Given the description of an element on the screen output the (x, y) to click on. 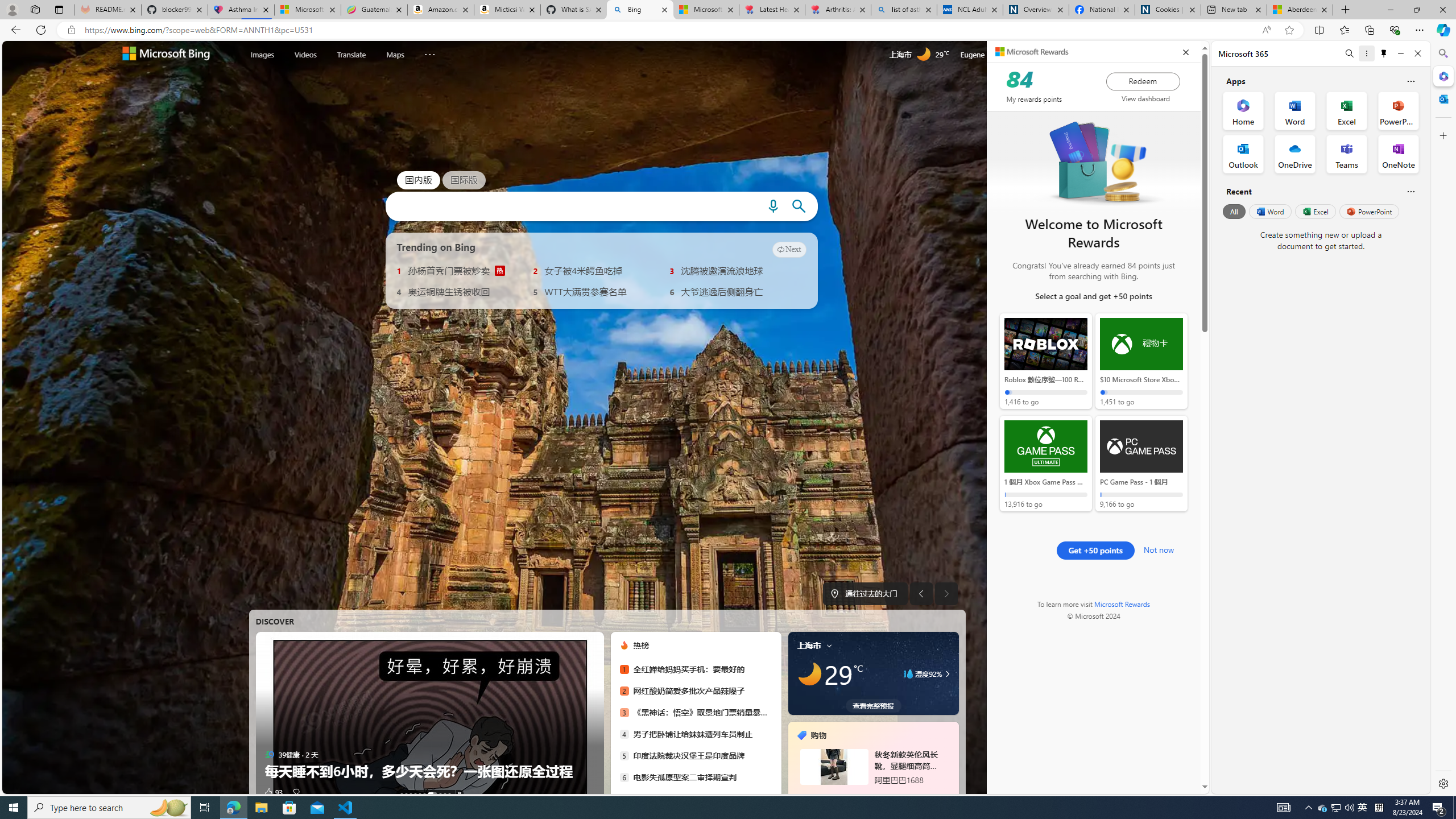
Videos (305, 53)
PowerPoint (1369, 210)
Previous image (921, 593)
Not now (1158, 548)
Microsoft Rewards (1031, 51)
AutomationID: tab-2 (410, 793)
